Given the description of an element on the screen output the (x, y) to click on. 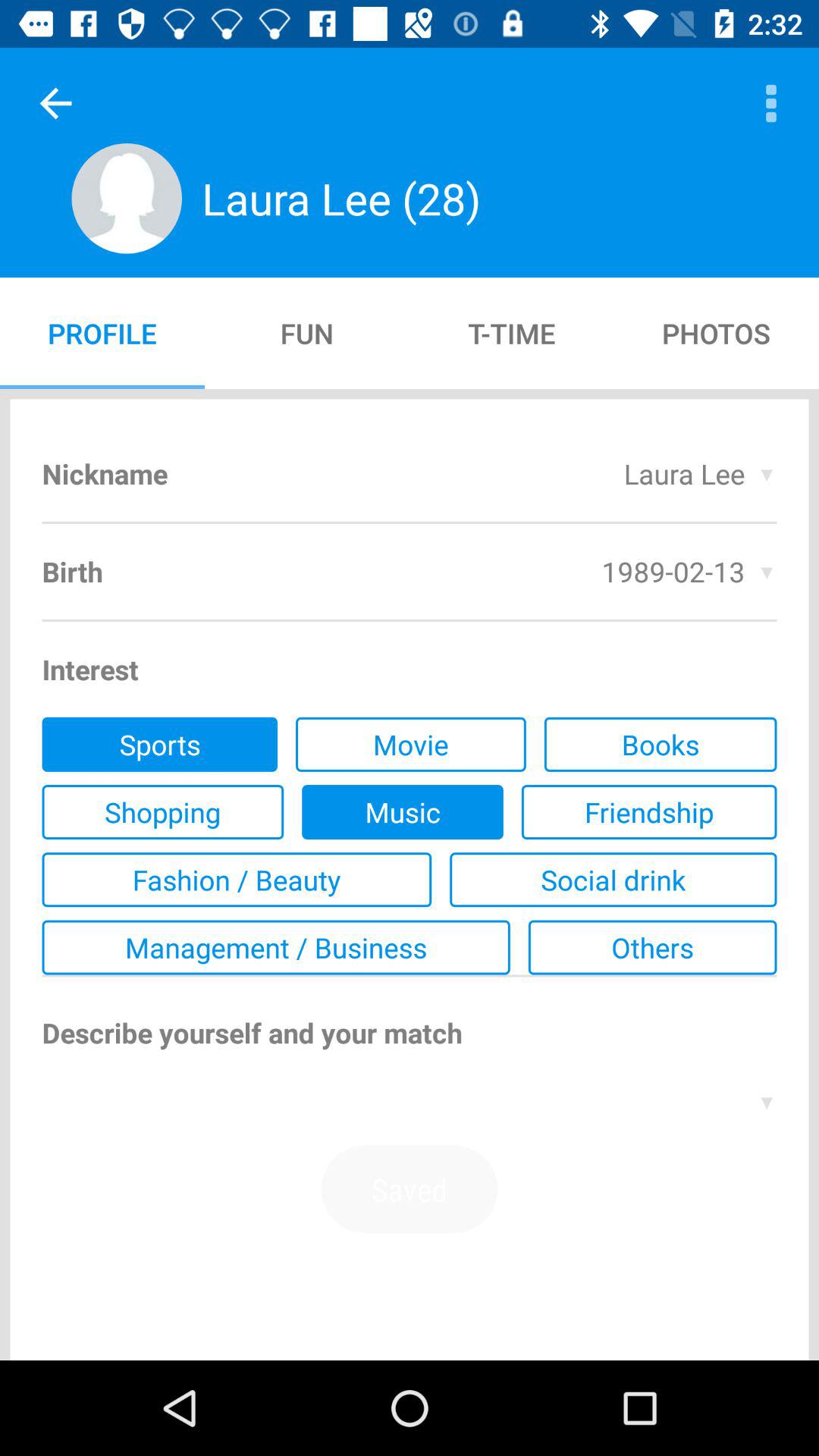
open the icon next to books (410, 744)
